Given the description of an element on the screen output the (x, y) to click on. 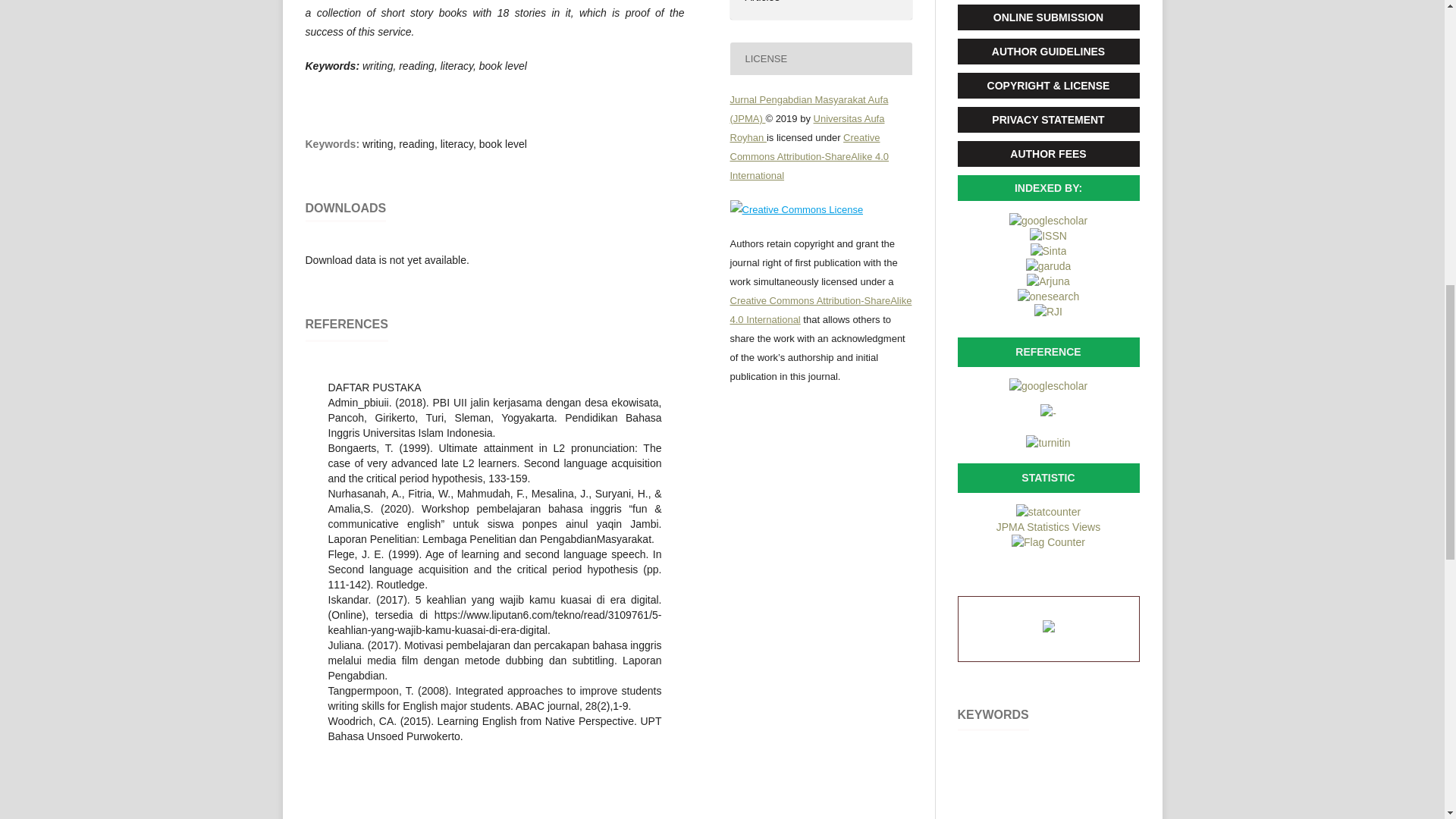
SINTA (1048, 250)
ISSN (1048, 235)
Statcounter (1048, 511)
Google Scoolar (1048, 386)
Author Guidelines (1047, 51)
Copyright and License Term (1047, 85)
GARUDA (1048, 265)
Google Scoolar (1048, 442)
ARJUNA (1047, 281)
One Search (1047, 296)
